Given the description of an element on the screen output the (x, y) to click on. 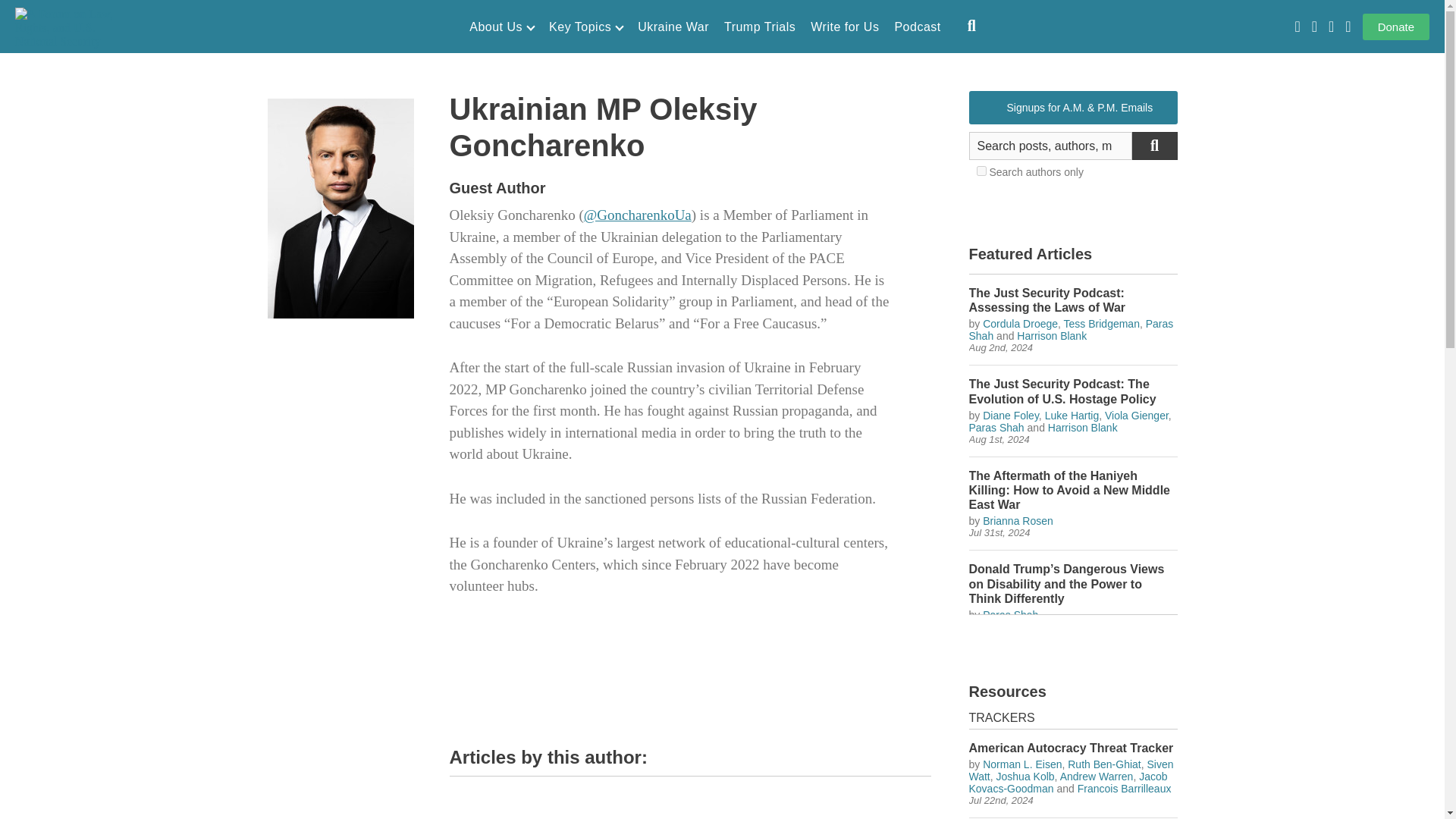
on (981, 171)
Profile and articles by Paras Shah (1010, 614)
Profile and articles by Luke Hartig (1072, 415)
Profile and articles by Cordula Droege (1020, 323)
Trump Trials (758, 27)
Profile and articles by Harrison Blank (1083, 427)
About Us (501, 27)
Profile and articles by Viola Gienger (1137, 415)
Write for Us (844, 27)
Donate (1395, 26)
Profile and articles by Brianna Rosen (1017, 521)
Key Topics (585, 27)
Ukraine War (673, 27)
Profile and articles by Tess Bridgeman (1102, 323)
Profile and articles by Harrison Blank (1051, 336)
